Given the description of an element on the screen output the (x, y) to click on. 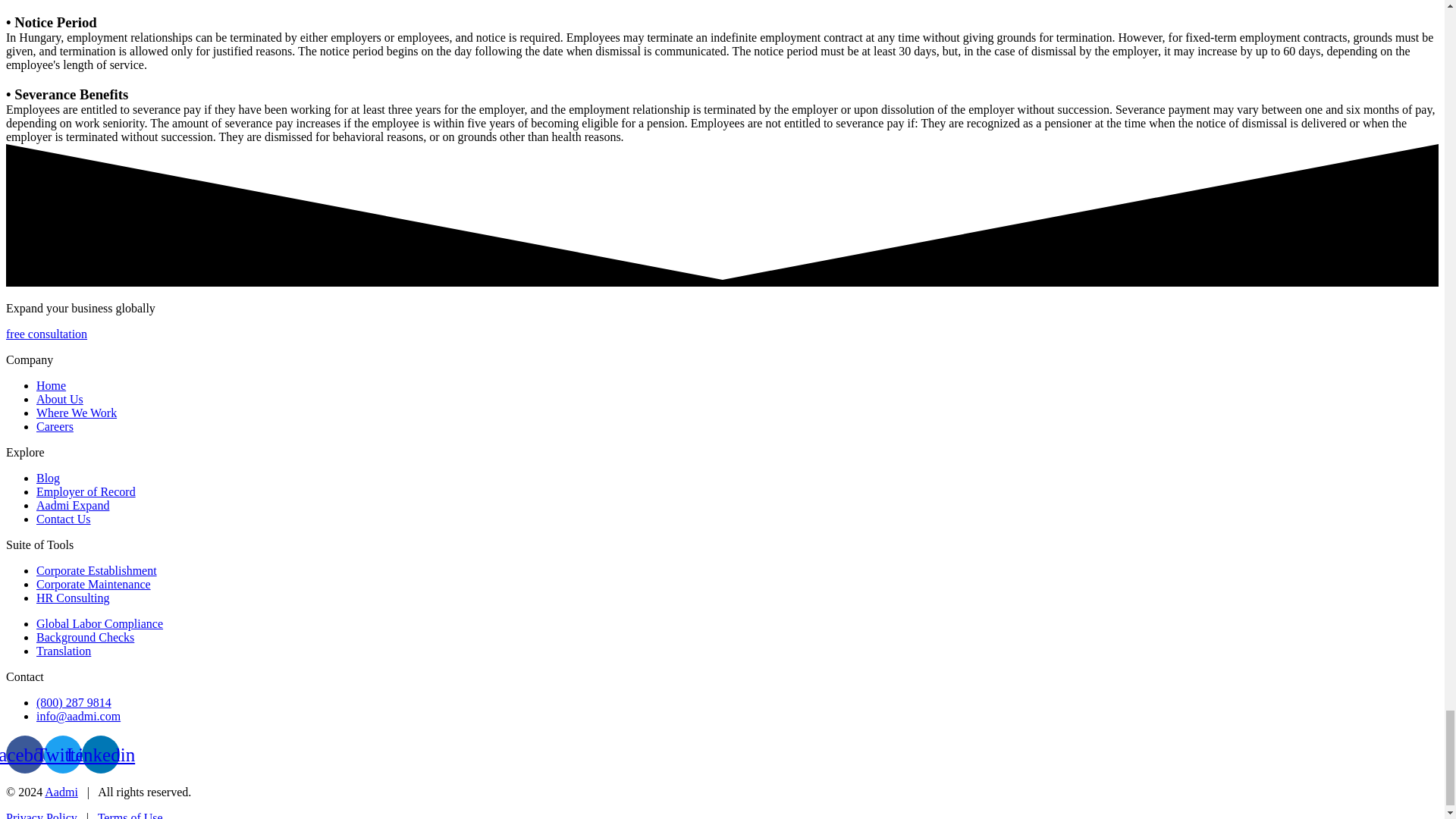
Where We Work (76, 412)
free consultation (46, 333)
Careers (55, 426)
Home (50, 385)
About Us (59, 399)
Blog (47, 477)
Employer of Record (85, 491)
